Given the description of an element on the screen output the (x, y) to click on. 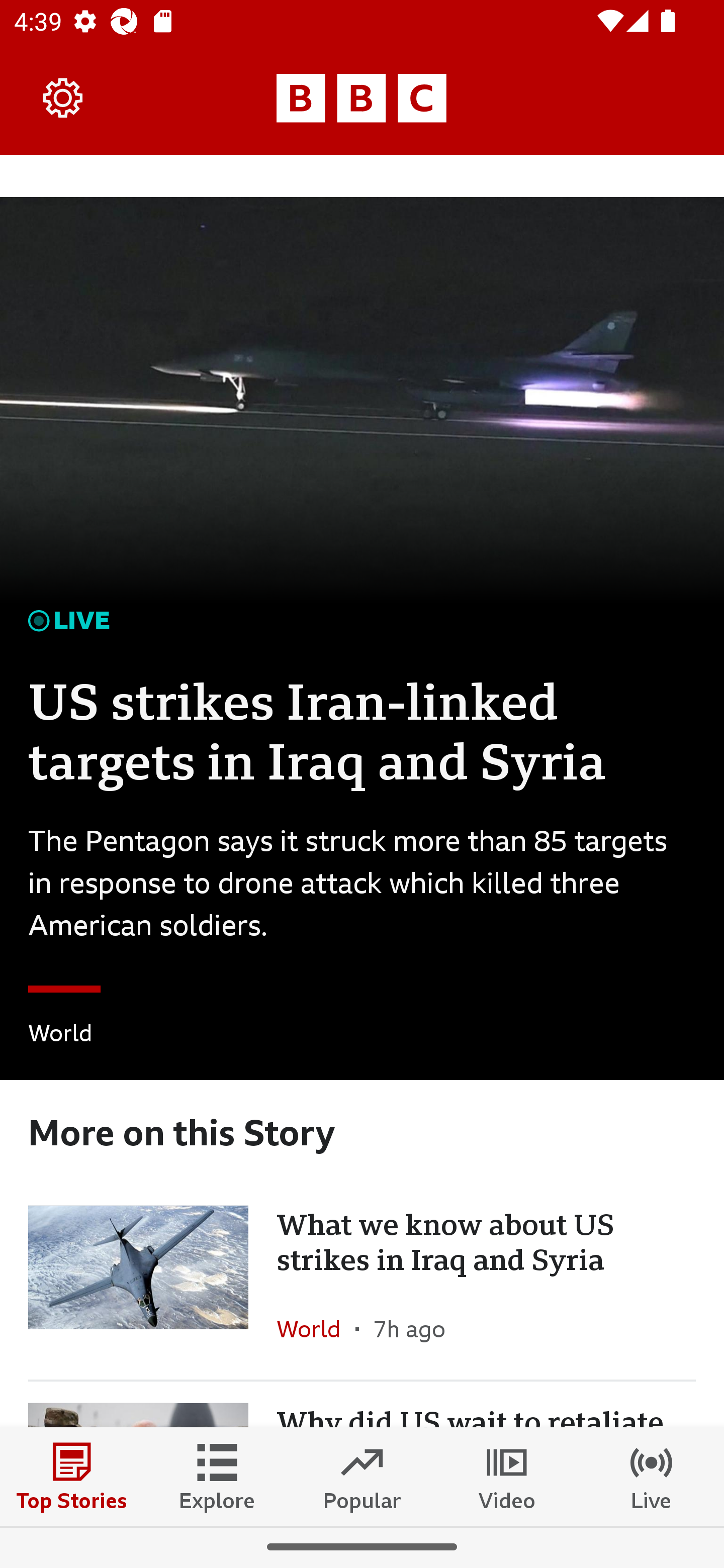
Settings (63, 97)
World In the section World (60, 1036)
World In the section World (315, 1328)
Explore (216, 1475)
Popular (361, 1475)
Video (506, 1475)
Live (651, 1475)
